Given the description of an element on the screen output the (x, y) to click on. 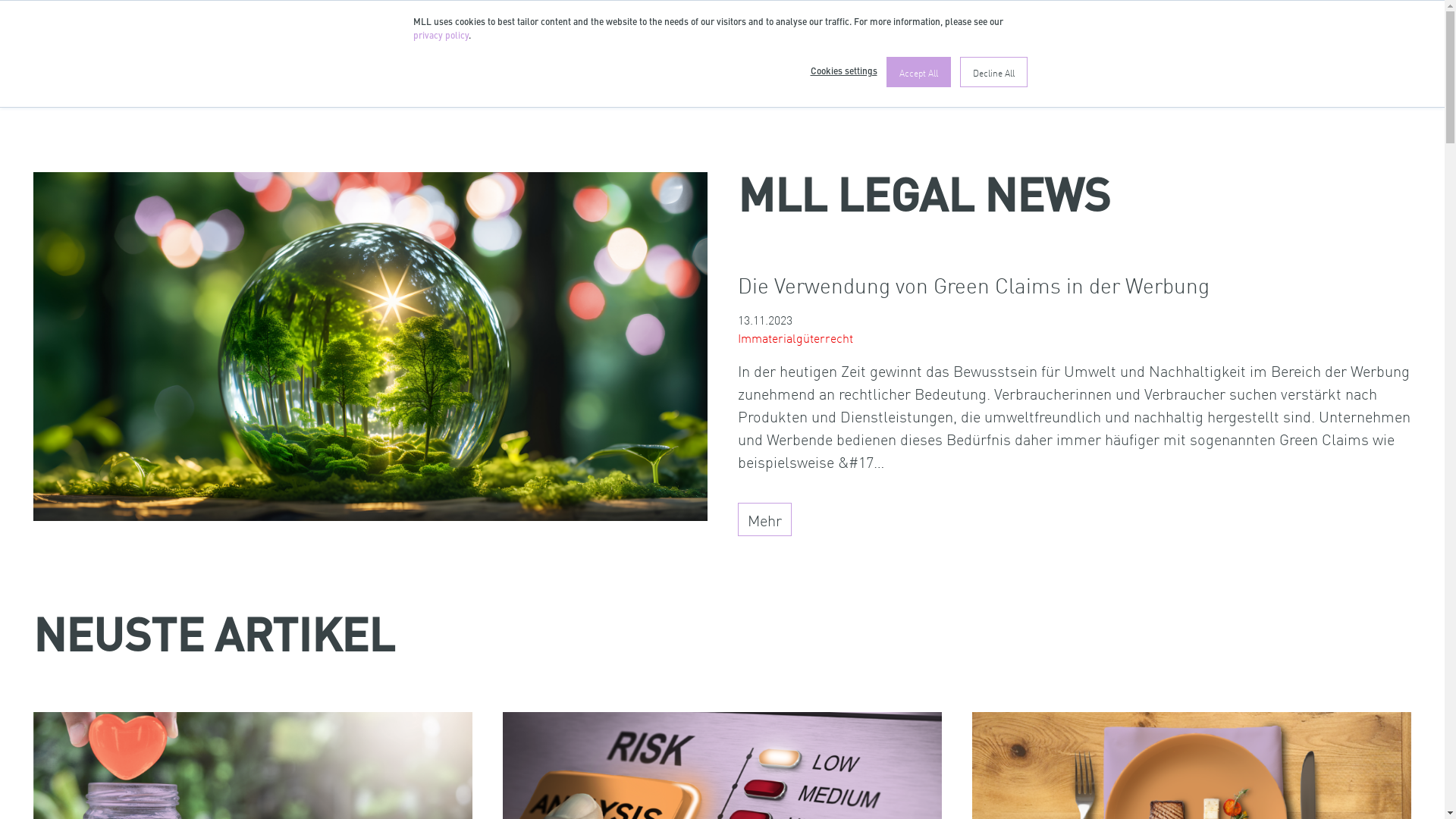
Mehr Element type: text (763, 519)
privacy policy Element type: text (439, 35)
Decline All Element type: text (993, 71)
DE Element type: text (1303, 32)
Accept All Element type: text (917, 71)
Cookies settings Element type: text (842, 71)
Die Verwendung von Green Claims in der Werbung Element type: text (1074, 285)
